Given the description of an element on the screen output the (x, y) to click on. 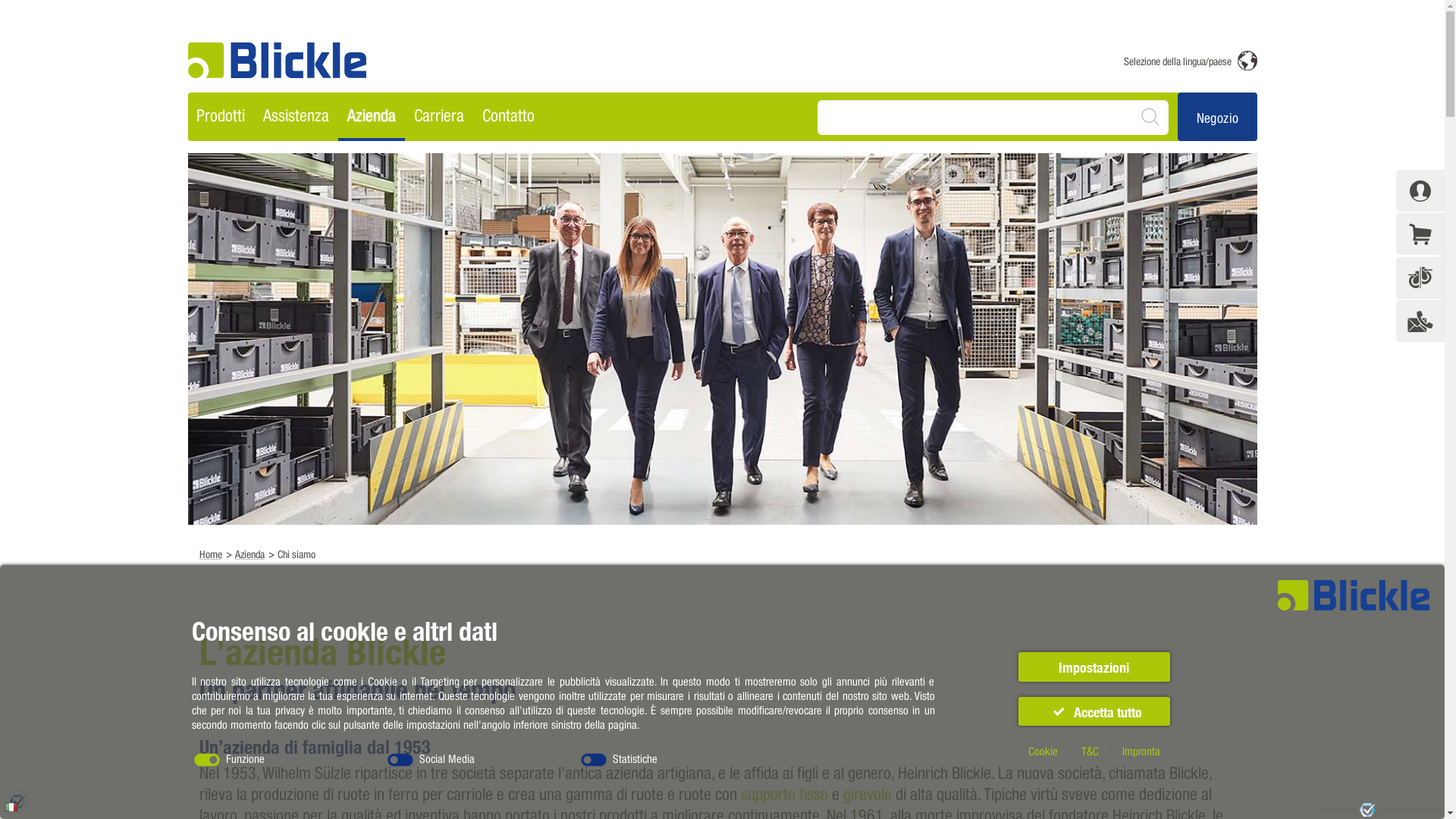
Prodotti Element type: text (221, 116)
Home Element type: text (209, 553)
Assistenza Element type: text (296, 116)
Login Element type: text (1420, 190)
Carriera Element type: text (438, 116)
Direzione Blickle Element type: hover (722, 338)
Contatto Element type: text (508, 116)
Negozio Element type: text (1217, 115)
Azienda Element type: text (371, 116)
Azienda Element type: text (249, 553)
Chi siamo Element type: text (296, 553)
company-logo Element type: hover (277, 61)
supporto fisso Element type: text (783, 793)
Logo Blickle Element type: hover (277, 60)
girevole Element type: text (867, 793)
